Given the description of an element on the screen output the (x, y) to click on. 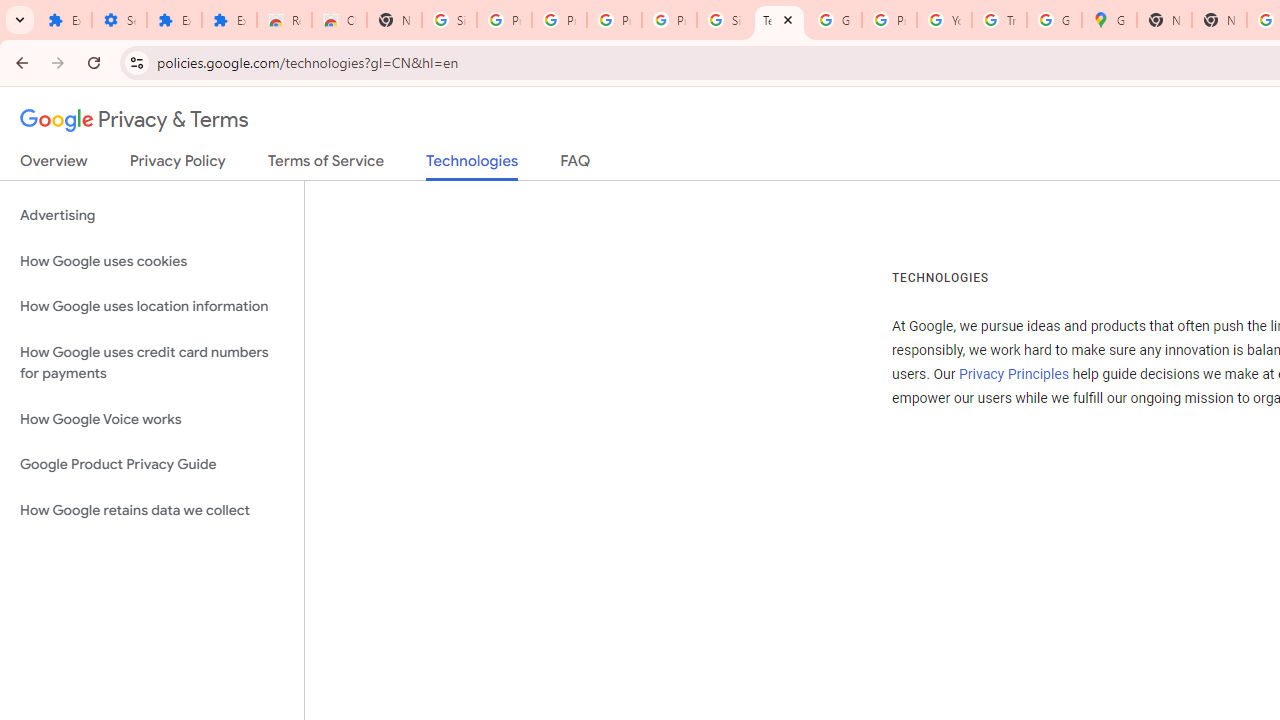
Reviews: Helix Fruit Jump Arcade Game (284, 20)
How Google retains data we collect (152, 510)
Google Maps (1108, 20)
Google Product Privacy Guide (152, 465)
How Google uses location information (152, 306)
Privacy Principles (1013, 374)
Chrome Web Store - Themes (339, 20)
